Given the description of an element on the screen output the (x, y) to click on. 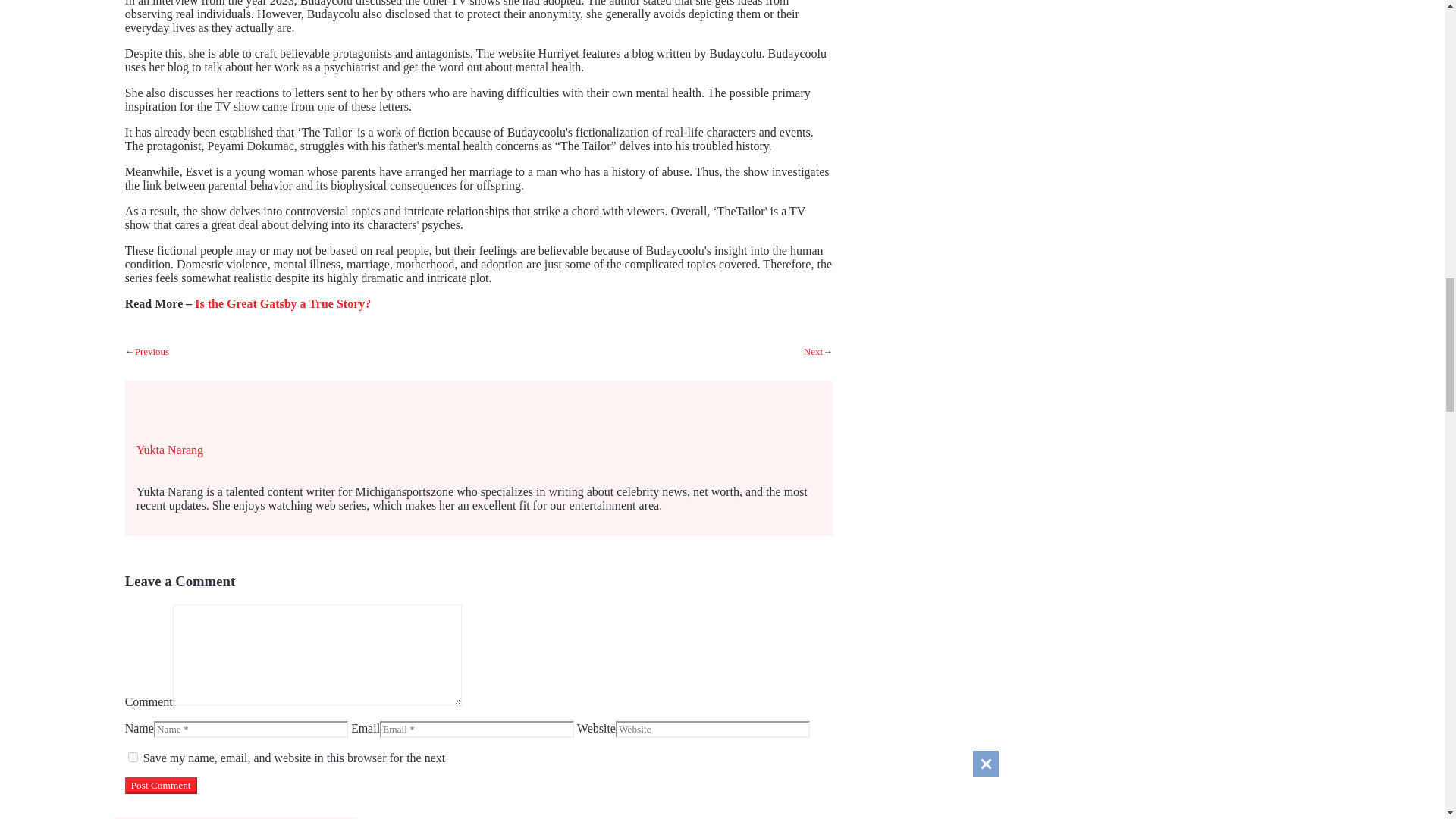
Is the Great Gatsby a True Story? (283, 303)
Next (812, 351)
yes (133, 757)
Previous (152, 351)
Post Comment (160, 785)
